Given the description of an element on the screen output the (x, y) to click on. 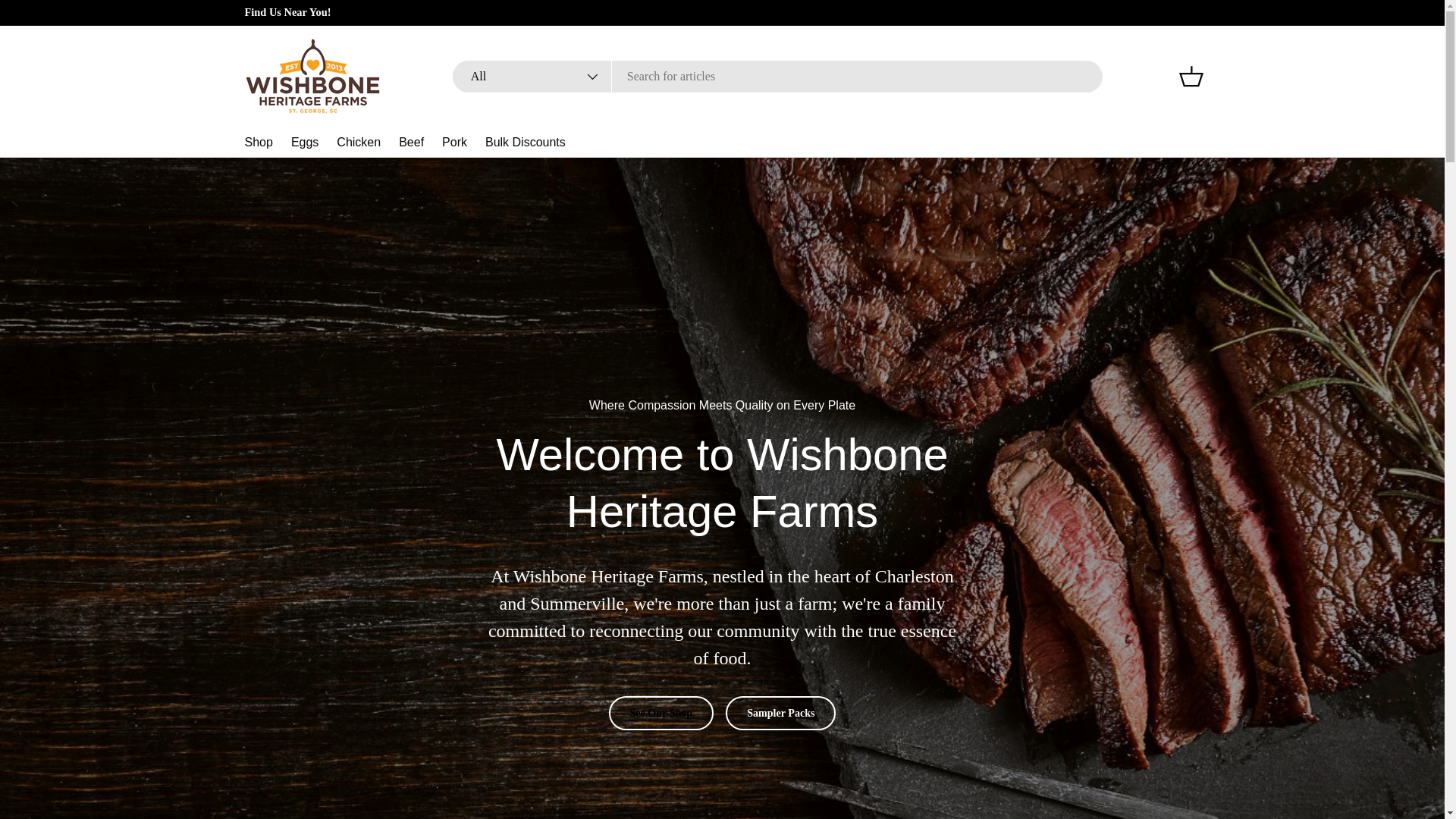
Eggs (304, 142)
Basket (1190, 76)
See Our Shop (661, 713)
All (531, 76)
Chicken (358, 142)
Bulk Discounts (525, 142)
Sampler Packs (780, 713)
Shop (258, 142)
Skip to content (69, 21)
